Given the description of an element on the screen output the (x, y) to click on. 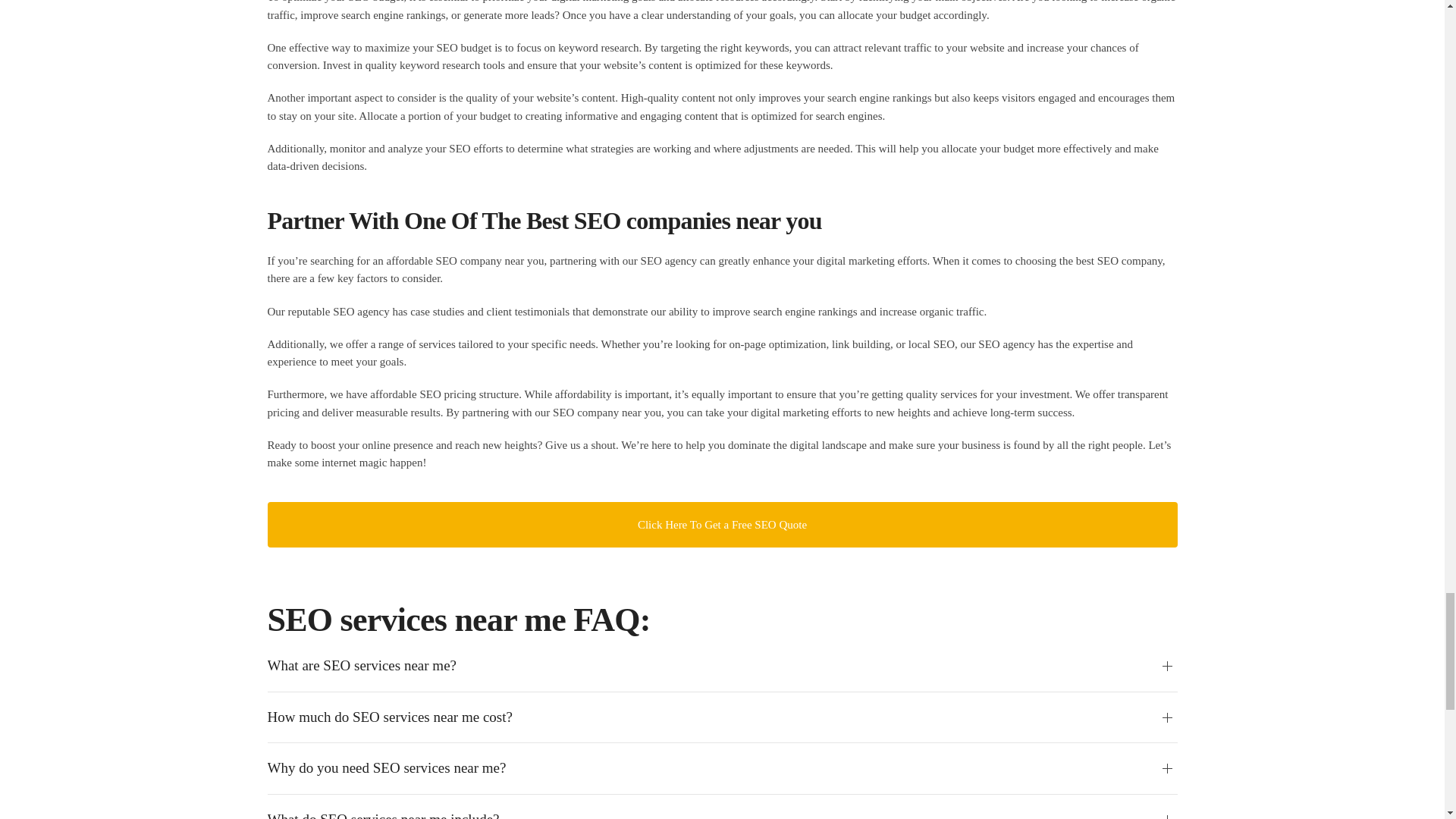
Click Here To Get a Free SEO Quote (721, 524)
